Given the description of an element on the screen output the (x, y) to click on. 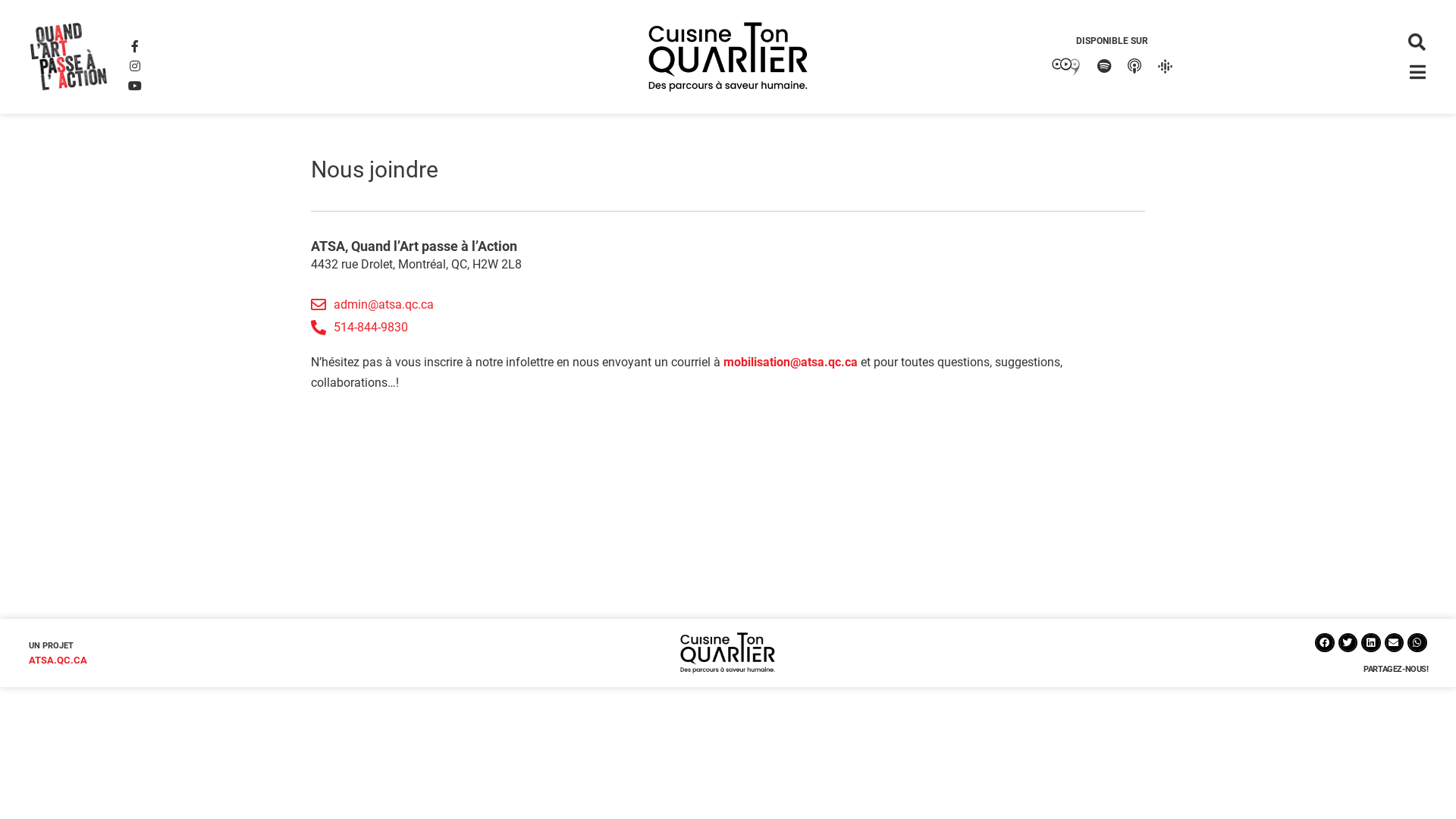
ATSA.QC.CA Element type: text (57, 659)
514-844-9830 Element type: text (727, 327)
mobilisation@atsa.qc.ca Element type: text (790, 361)
admin@atsa.qc.ca Element type: text (727, 304)
